Given the description of an element on the screen output the (x, y) to click on. 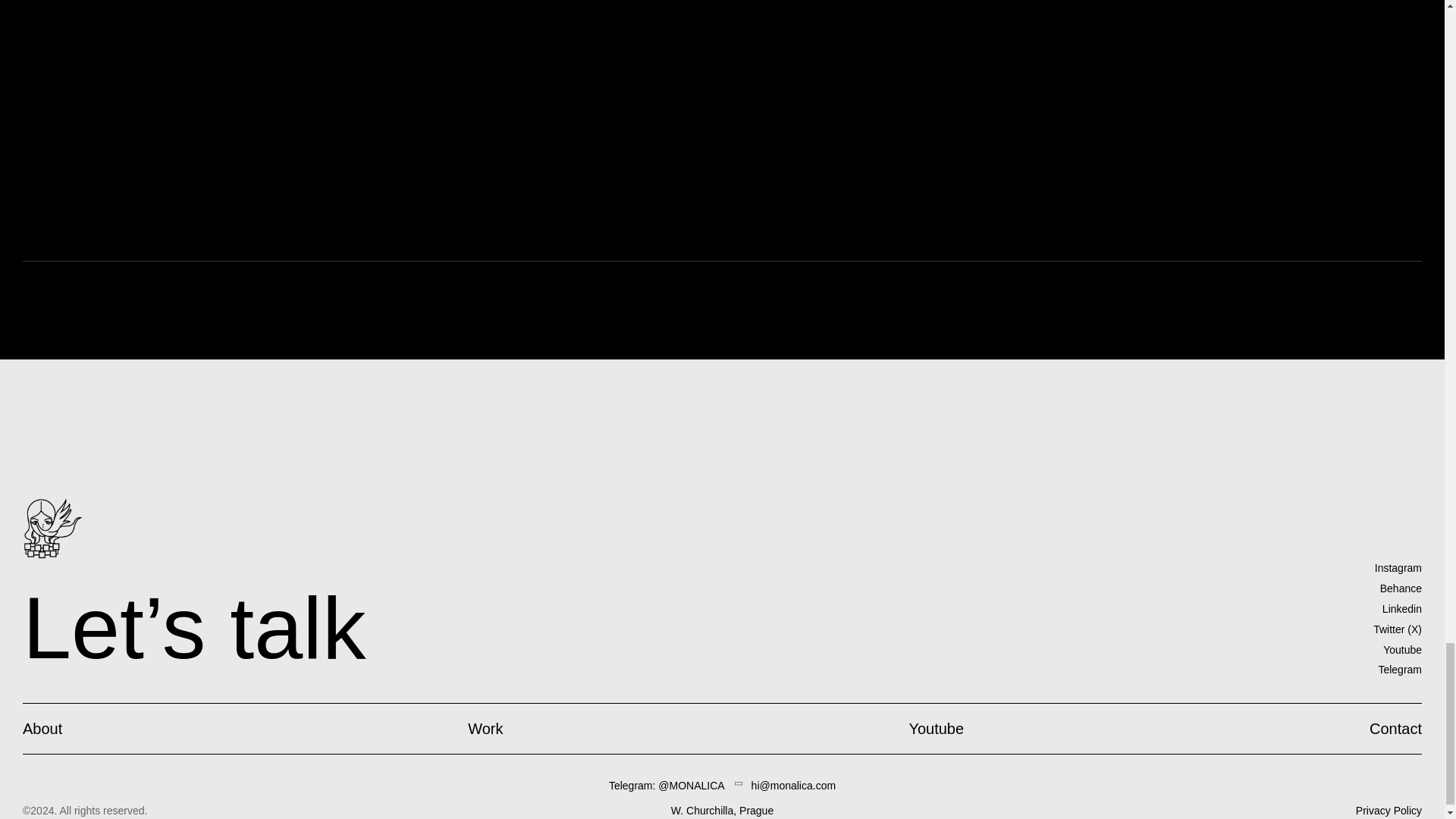
Instagram (1397, 567)
Telegram (1397, 670)
Behance (1397, 588)
Linkedin (1397, 608)
Youtube (1397, 649)
